Given the description of an element on the screen output the (x, y) to click on. 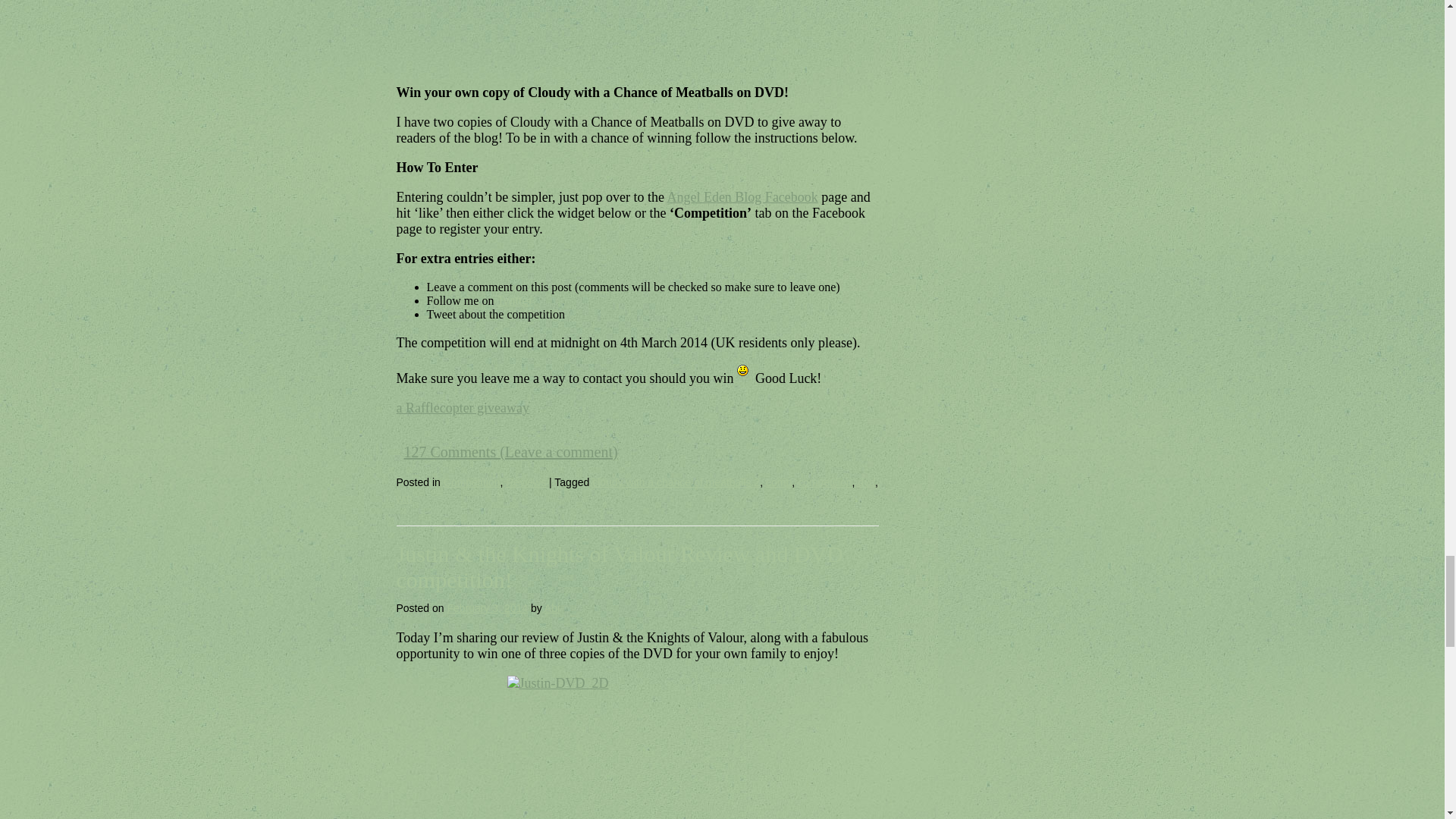
View all posts by Abi (551, 607)
